Given the description of an element on the screen output the (x, y) to click on. 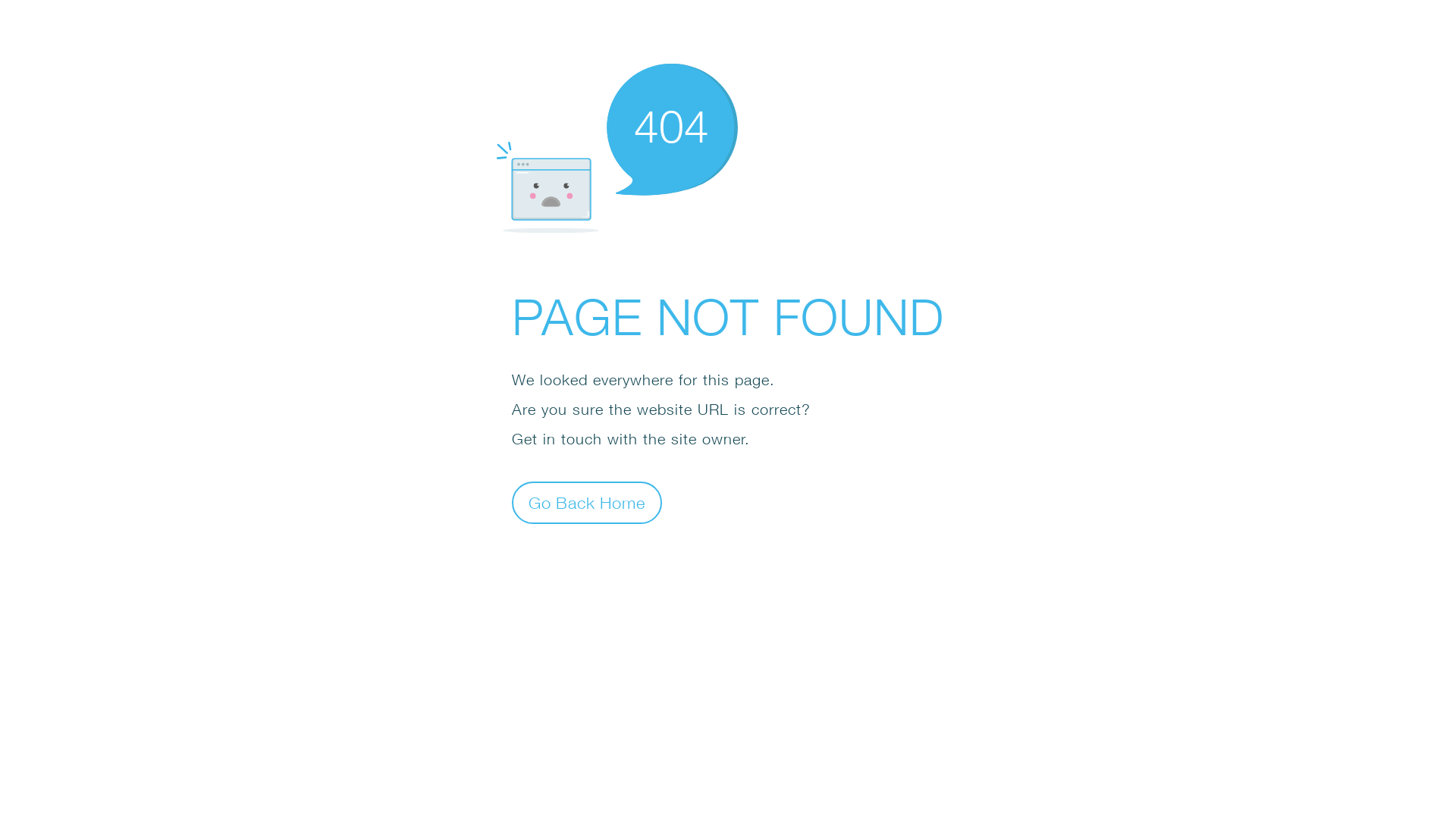
Go Back Home Element type: text (586, 502)
